Given the description of an element on the screen output the (x, y) to click on. 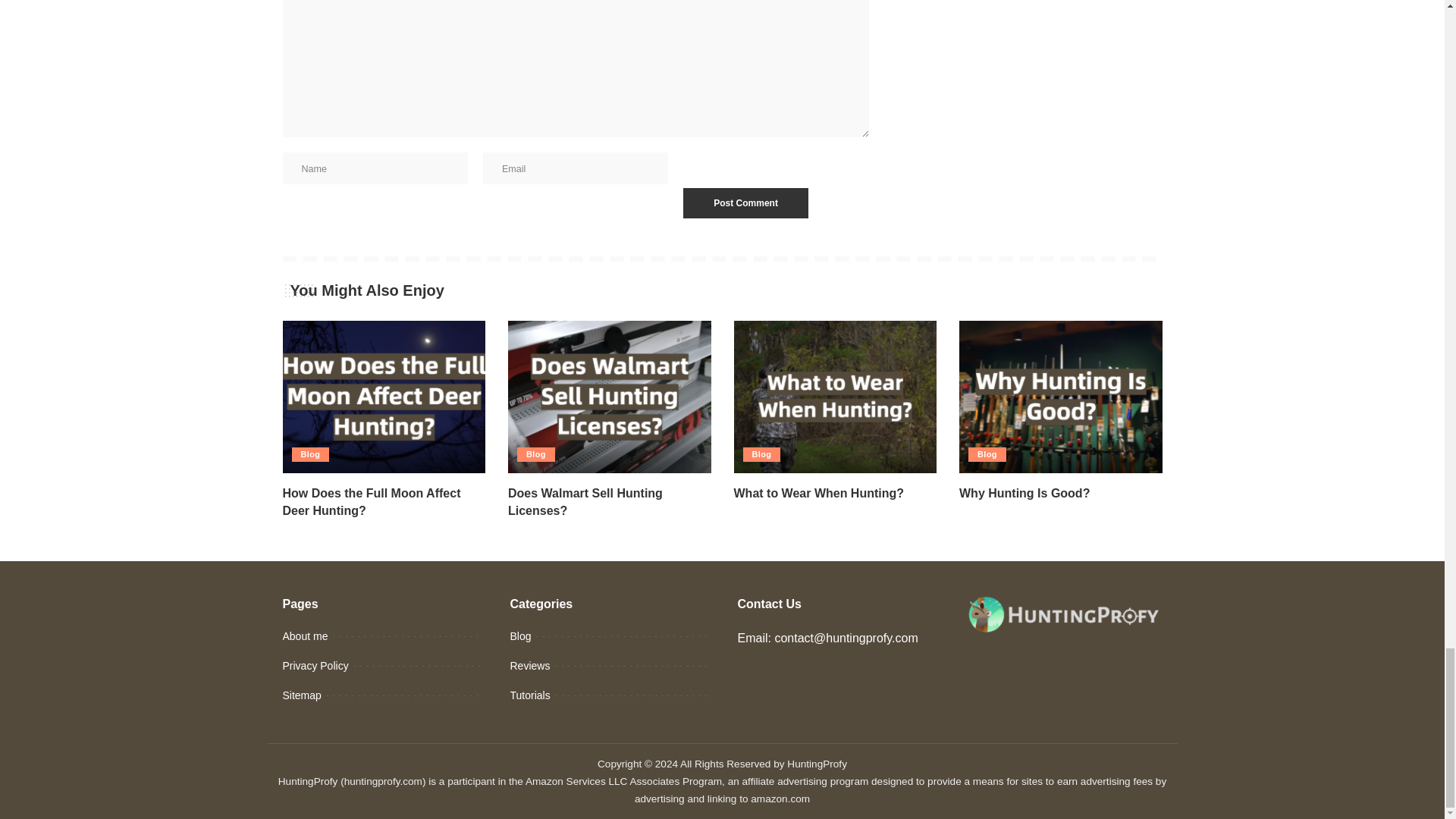
Post Comment (745, 203)
Blog (310, 454)
Post Comment (745, 203)
